Given the description of an element on the screen output the (x, y) to click on. 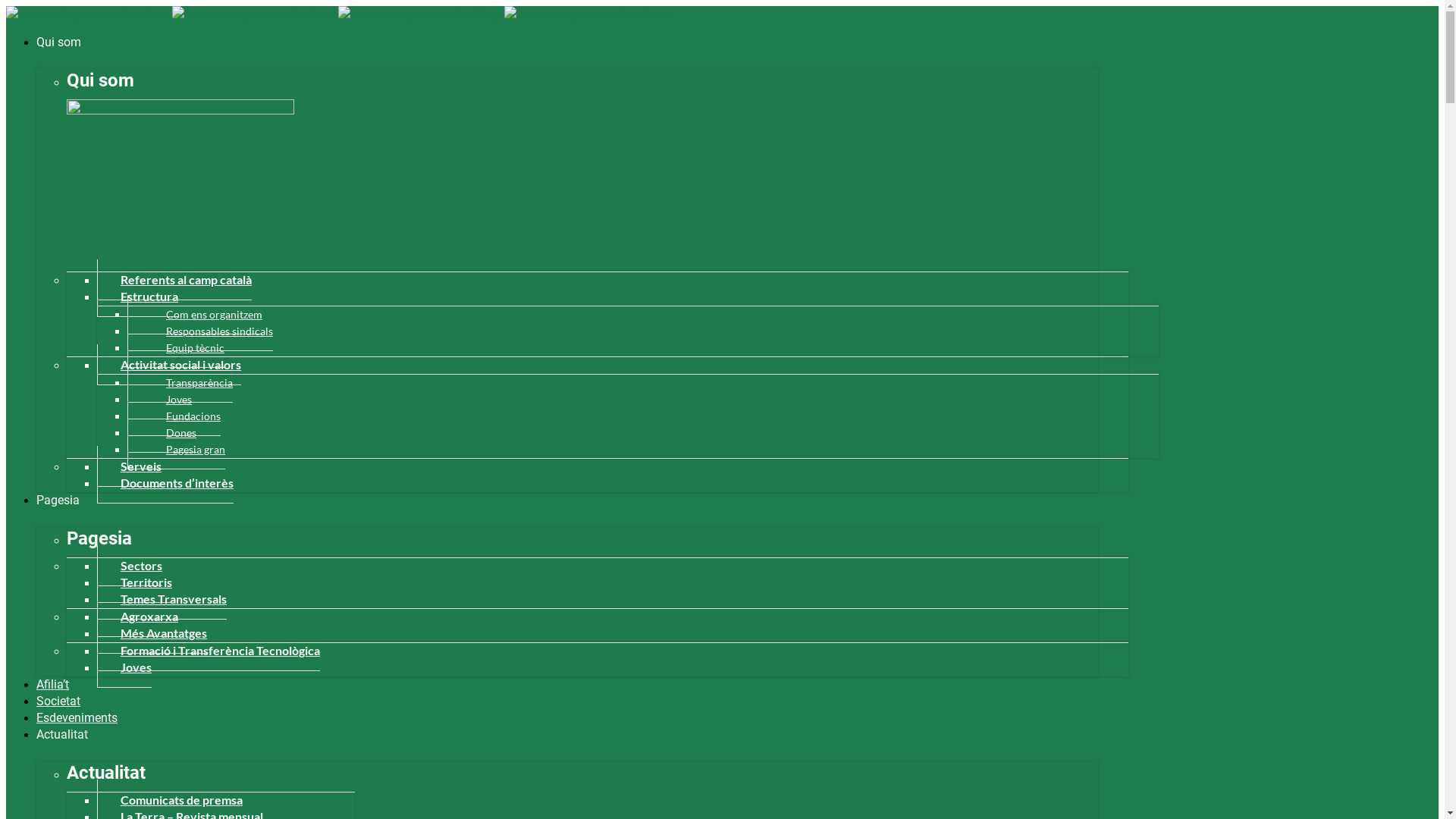
Serveis Element type: text (129, 465)
Responsables sindicals Element type: text (200, 331)
Estructura Element type: text (137, 296)
Fundacions Element type: text (173, 416)
Com ens organitzem Element type: text (194, 314)
Temes Transversals Element type: text (161, 598)
Joves Element type: text (124, 666)
Activitat social i valors Element type: text (169, 364)
Territoris Element type: text (134, 581)
Pagesia gran Element type: text (176, 449)
Agroxarxa Element type: text (137, 616)
Joves Element type: text (159, 399)
Actualitat Element type: text (61, 734)
Dones Element type: text (161, 432)
Societat Element type: text (58, 700)
Esdeveniments Element type: text (76, 717)
Qui som Element type: text (58, 41)
Sectors Element type: text (129, 565)
Pagesia Element type: text (57, 499)
